Given the description of an element on the screen output the (x, y) to click on. 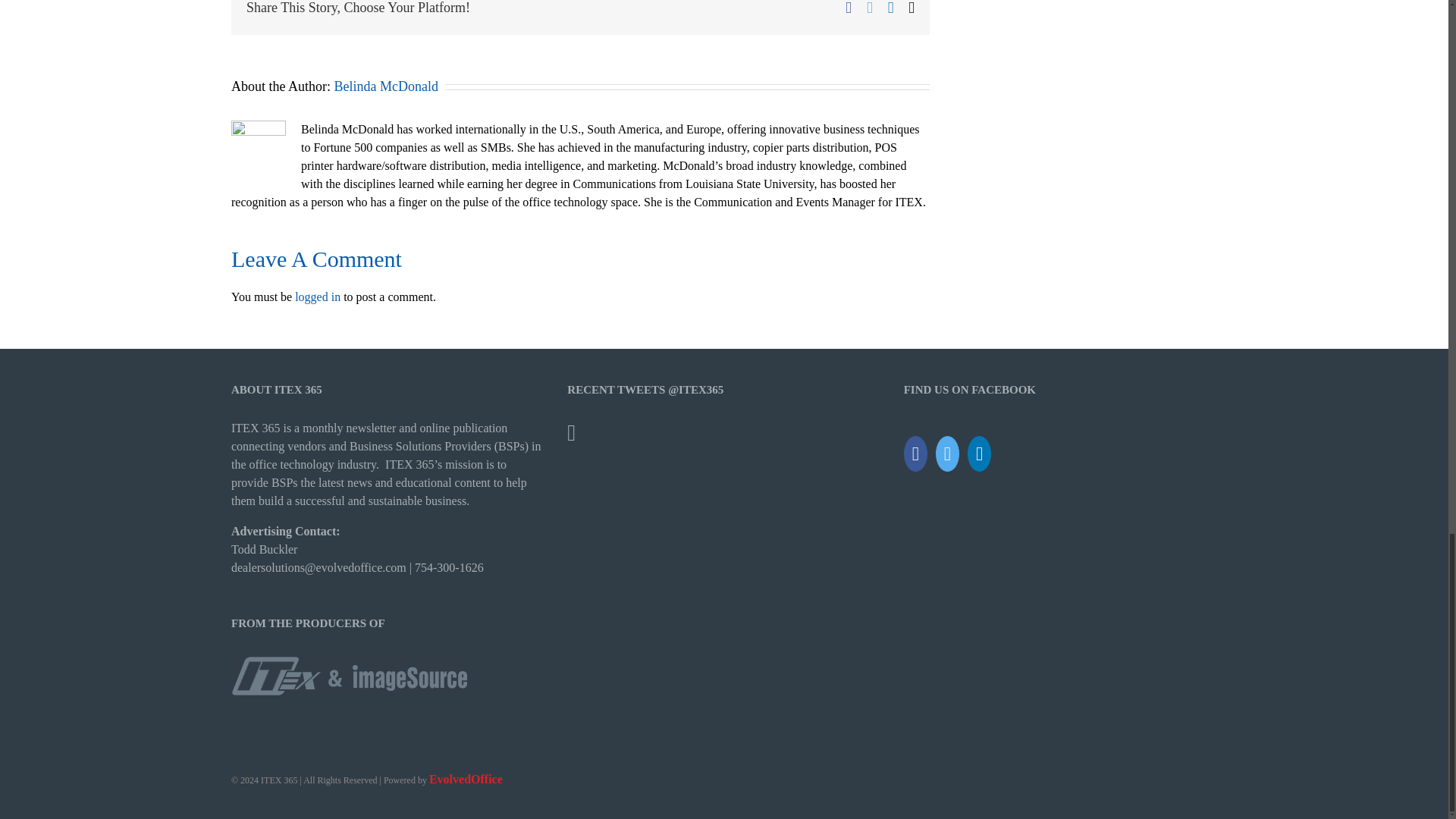
Belinda McDonald (385, 86)
logged in (317, 296)
Posts by Belinda McDonald (385, 86)
Screen-Shot-2017-03-21-at-3.01.02-PM (350, 675)
